Given the description of an element on the screen output the (x, y) to click on. 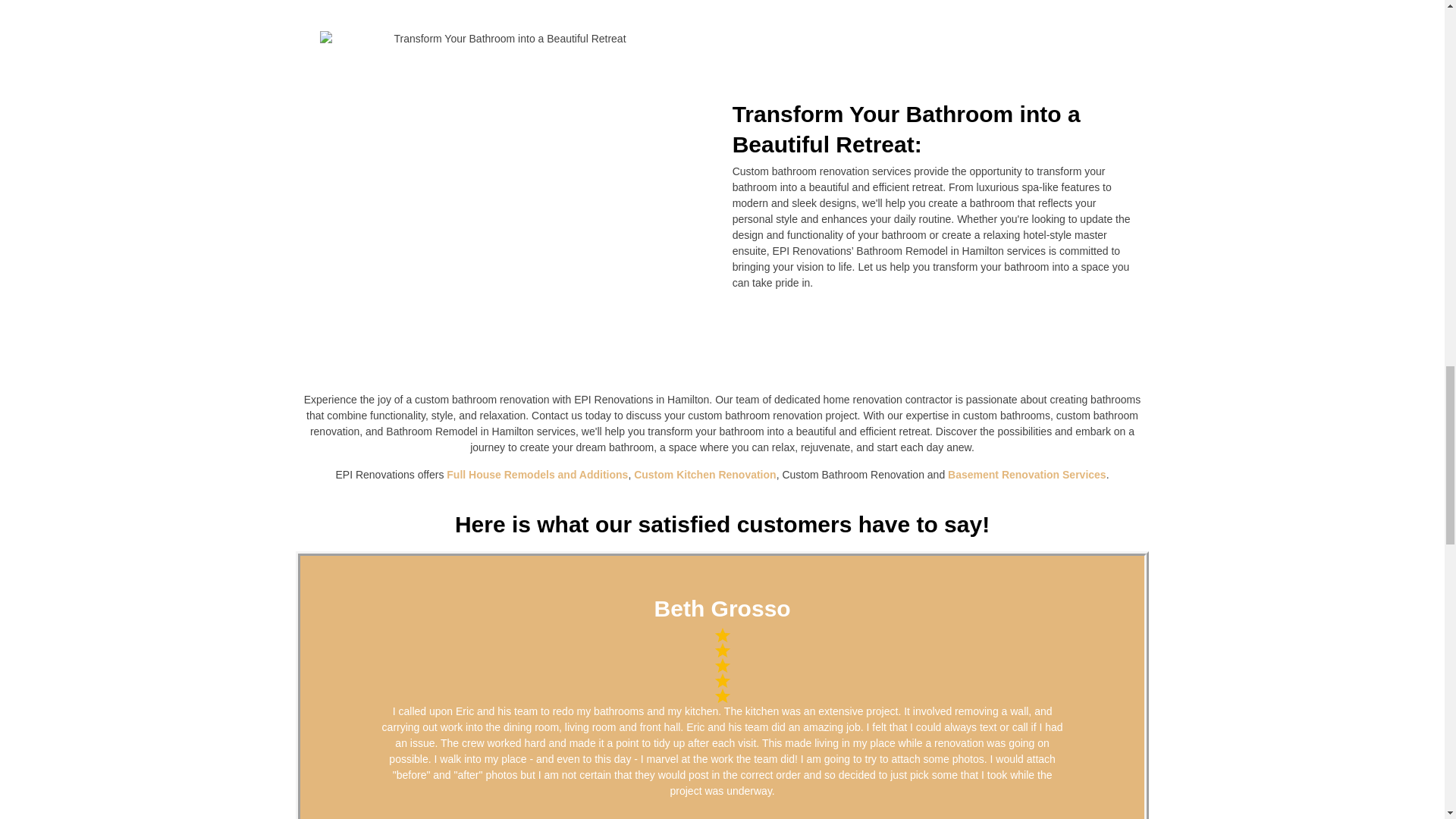
NEXT (1124, 713)
Basement Renovation Services (1026, 474)
PREVIOUS (342, 713)
Full House Remodels and Additions (536, 474)
Custom Kitchen Renovation (704, 474)
